Given the description of an element on the screen output the (x, y) to click on. 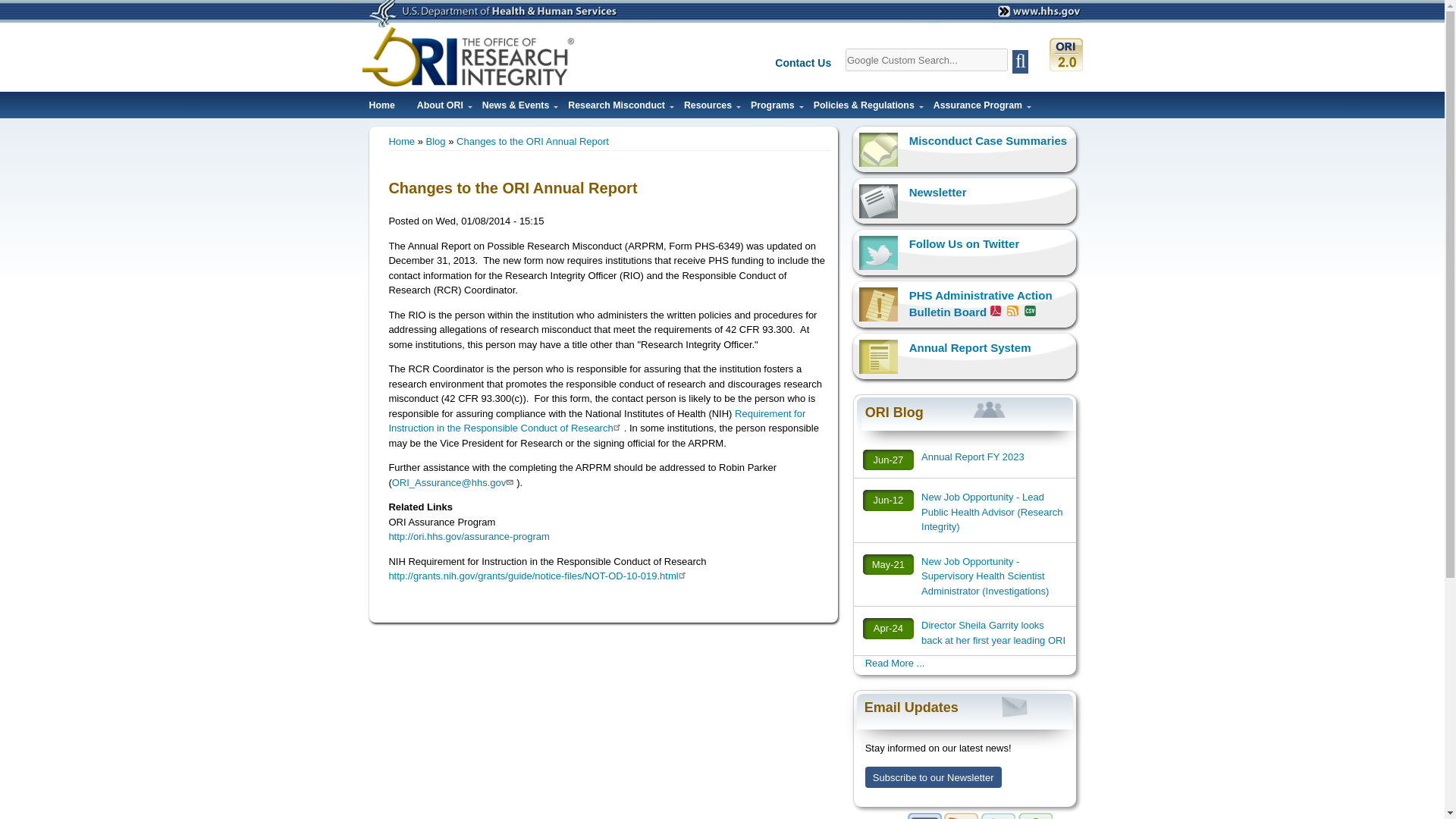
Home (381, 108)
Contact Us (808, 63)
CSV (1028, 310)
Search (1019, 61)
Home (468, 56)
PDF (996, 310)
RSS (1012, 310)
Wednesday, January 8, 2014 - 15:15 (489, 220)
Search (1019, 61)
